Given the description of an element on the screen output the (x, y) to click on. 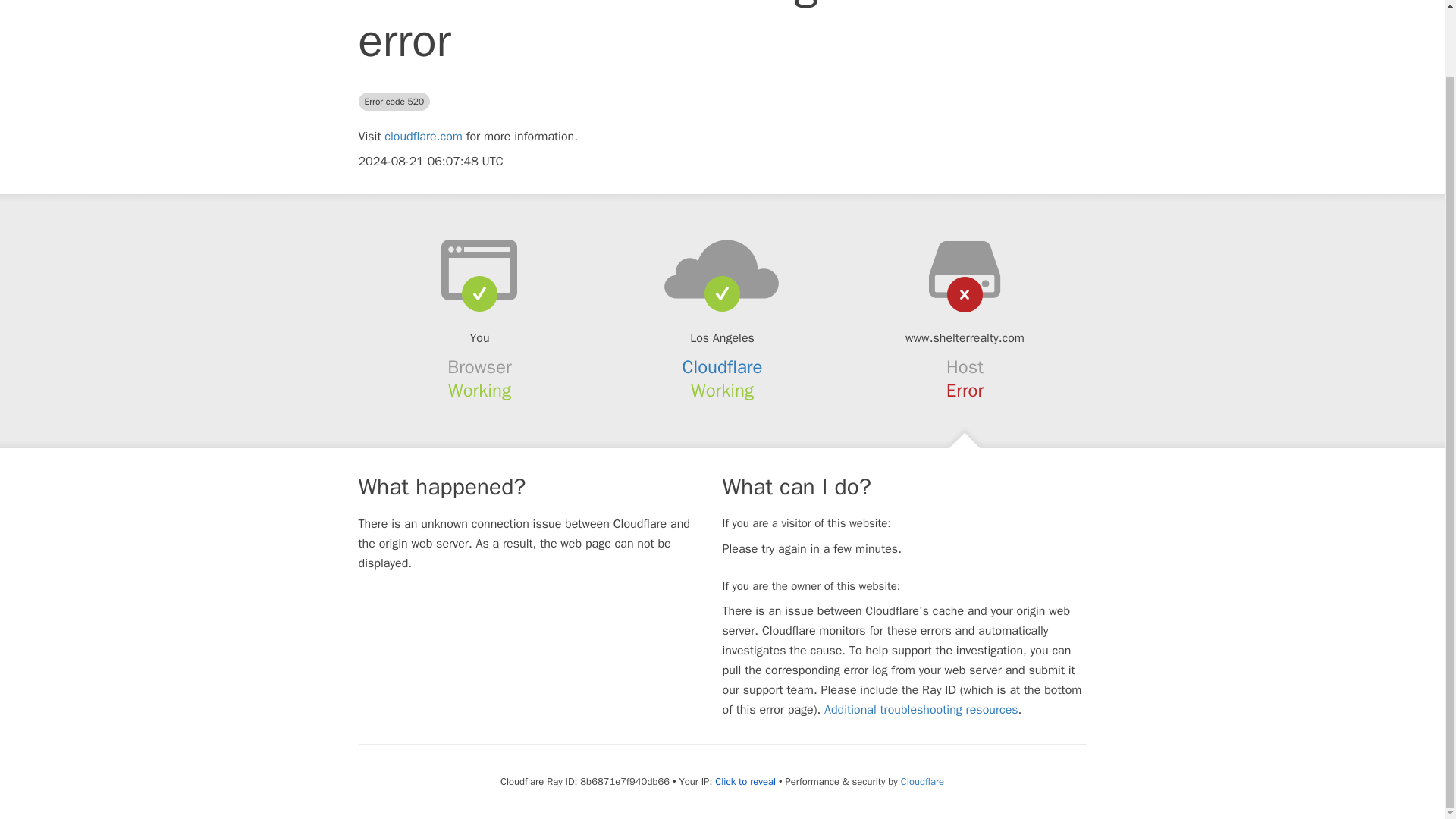
Click to reveal (745, 781)
cloudflare.com (423, 136)
Additional troubleshooting resources (920, 709)
Cloudflare (722, 366)
Cloudflare (922, 780)
